Given the description of an element on the screen output the (x, y) to click on. 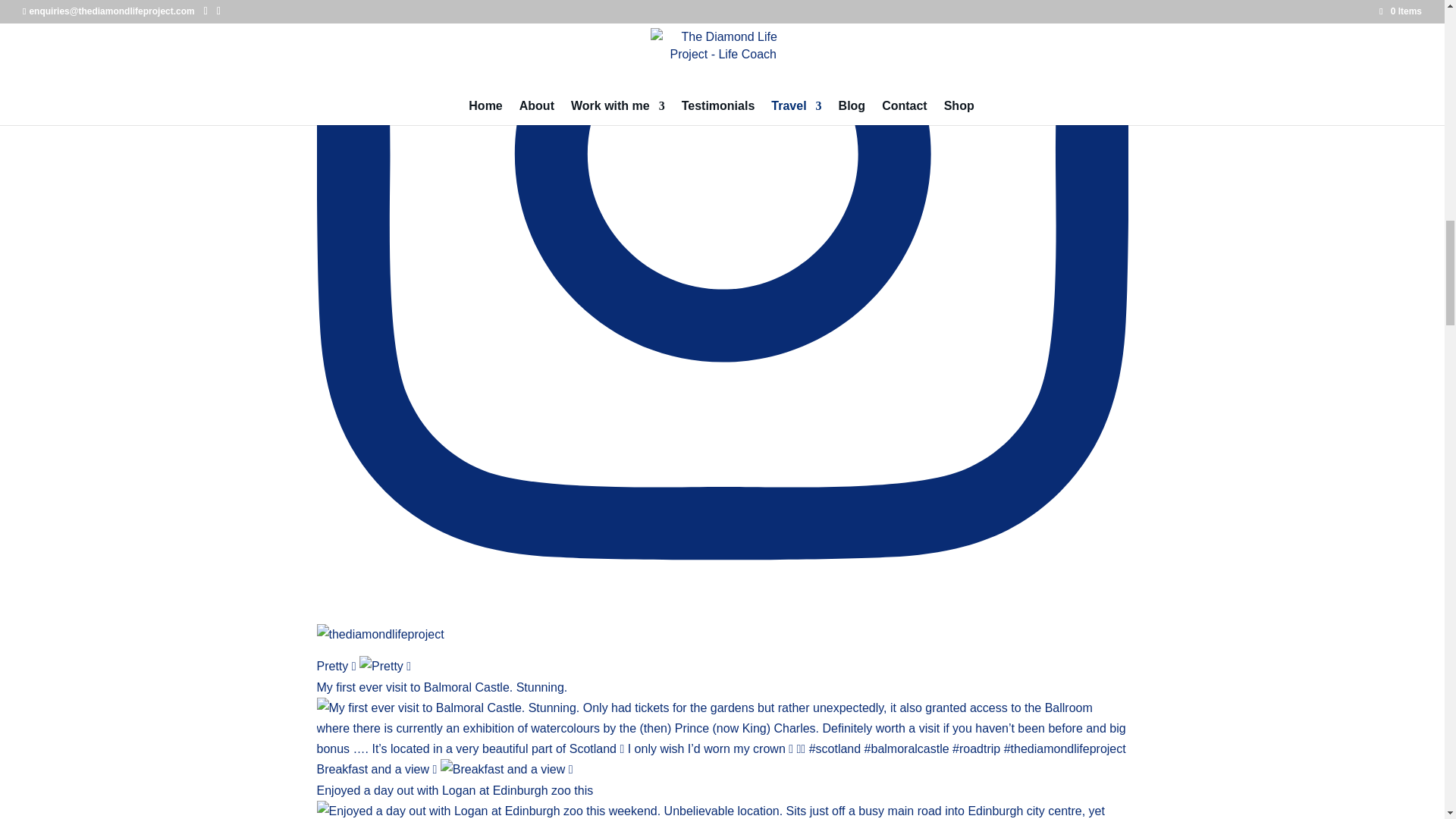
My first ever visit to Balmoral Castle. Stunning. (722, 717)
Enjoyed a day out with Logan at Edinburgh zoo this (722, 801)
